Given the description of an element on the screen output the (x, y) to click on. 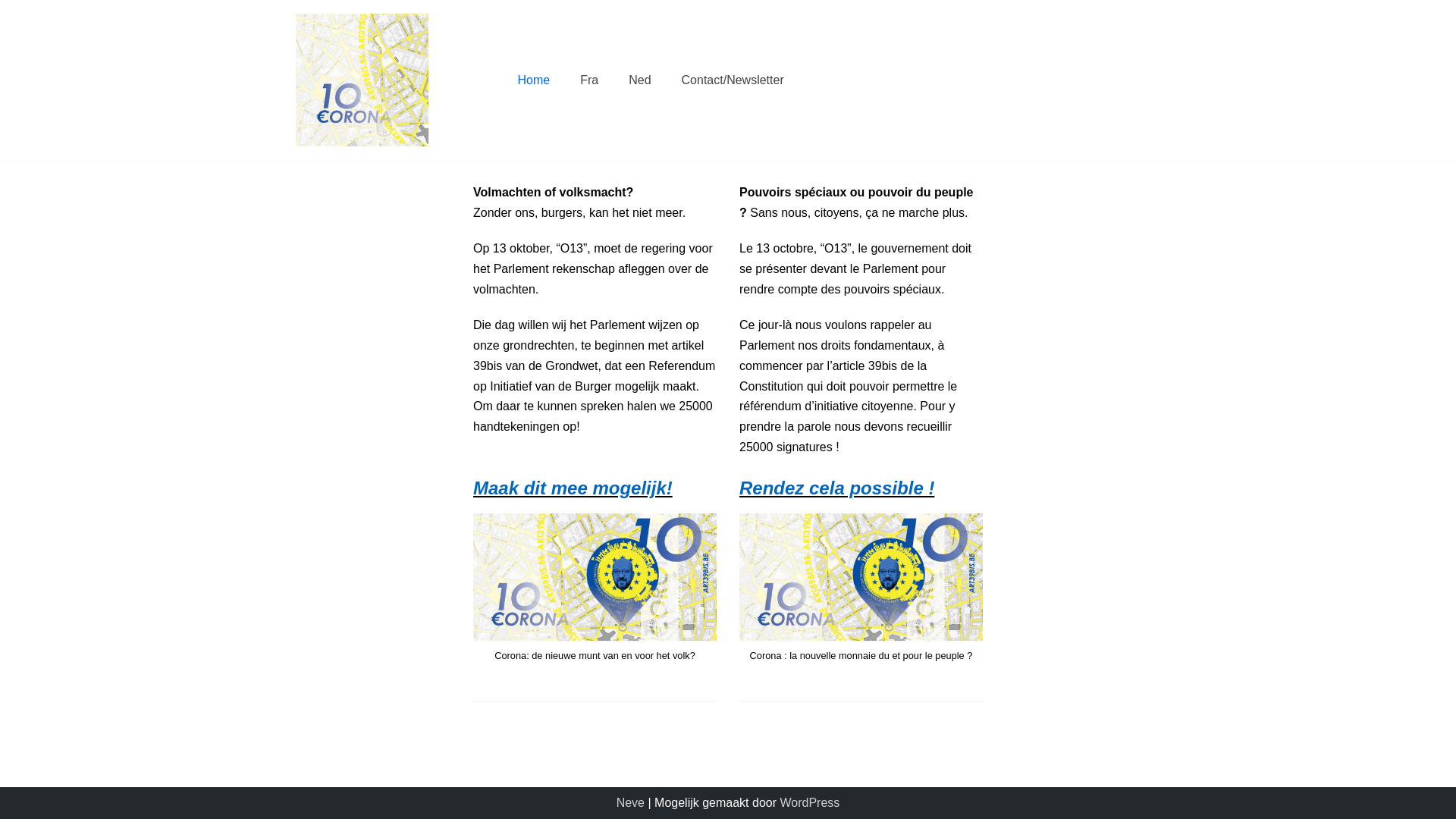
Ned Element type: text (639, 80)
Rendez cela possible ! Element type: text (836, 487)
Fra Element type: text (589, 80)
Home Element type: text (533, 80)
Neve Element type: text (630, 802)
Maak dit mee mogelijk! Element type: text (572, 487)
Art. 39bis Element type: hover (361, 79)
Meteen naar de inhoud Element type: text (15, 7)
WordPress Element type: text (809, 802)
Contact/Newsletter Element type: text (732, 80)
